Given the description of an element on the screen output the (x, y) to click on. 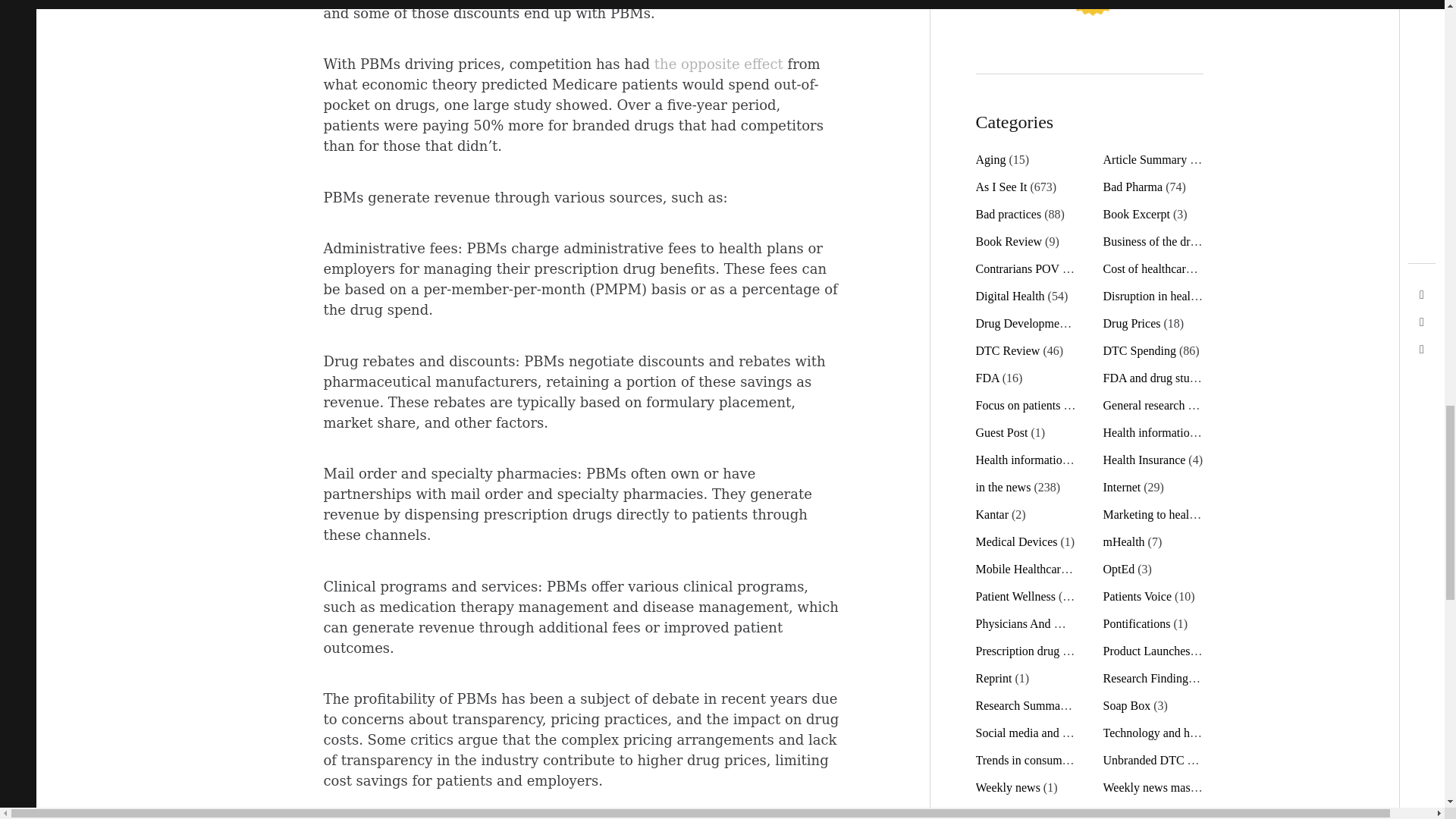
the opposite effect (718, 64)
